Given the description of an element on the screen output the (x, y) to click on. 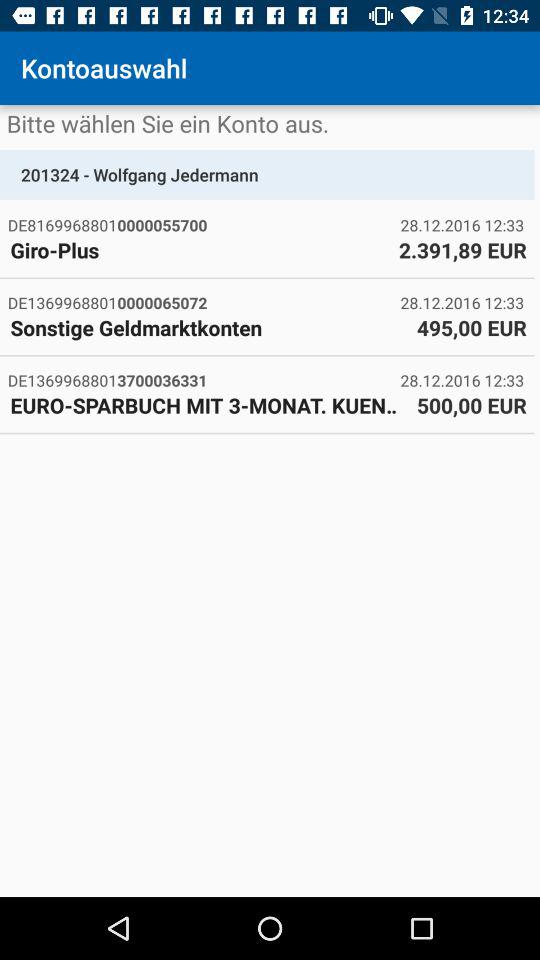
scroll until 2 391 89 item (462, 249)
